Given the description of an element on the screen output the (x, y) to click on. 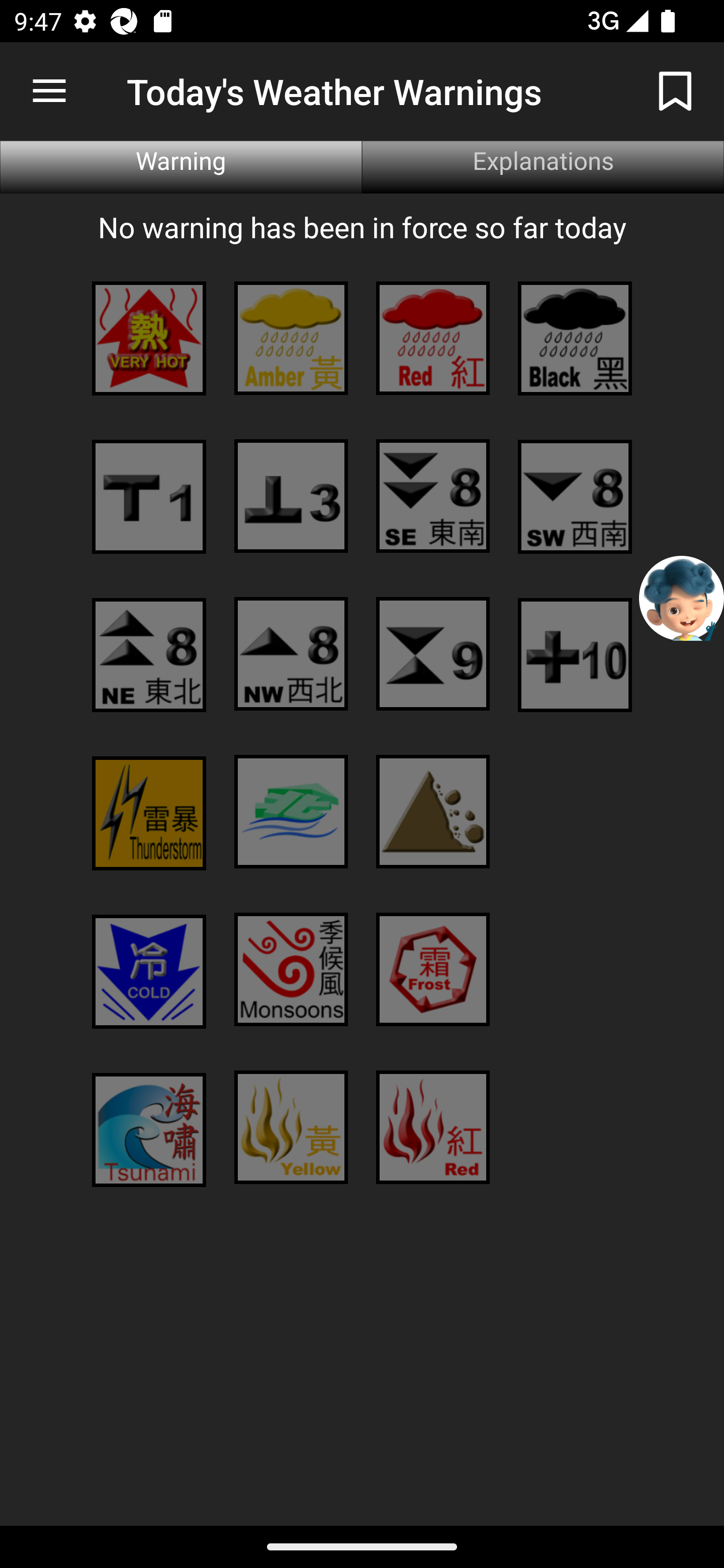
Navigate up (49, 91)
Bookmark not added (674, 90)
Warning (181, 166)
Explanations (543, 166)
Chatbot (681, 598)
